Given the description of an element on the screen output the (x, y) to click on. 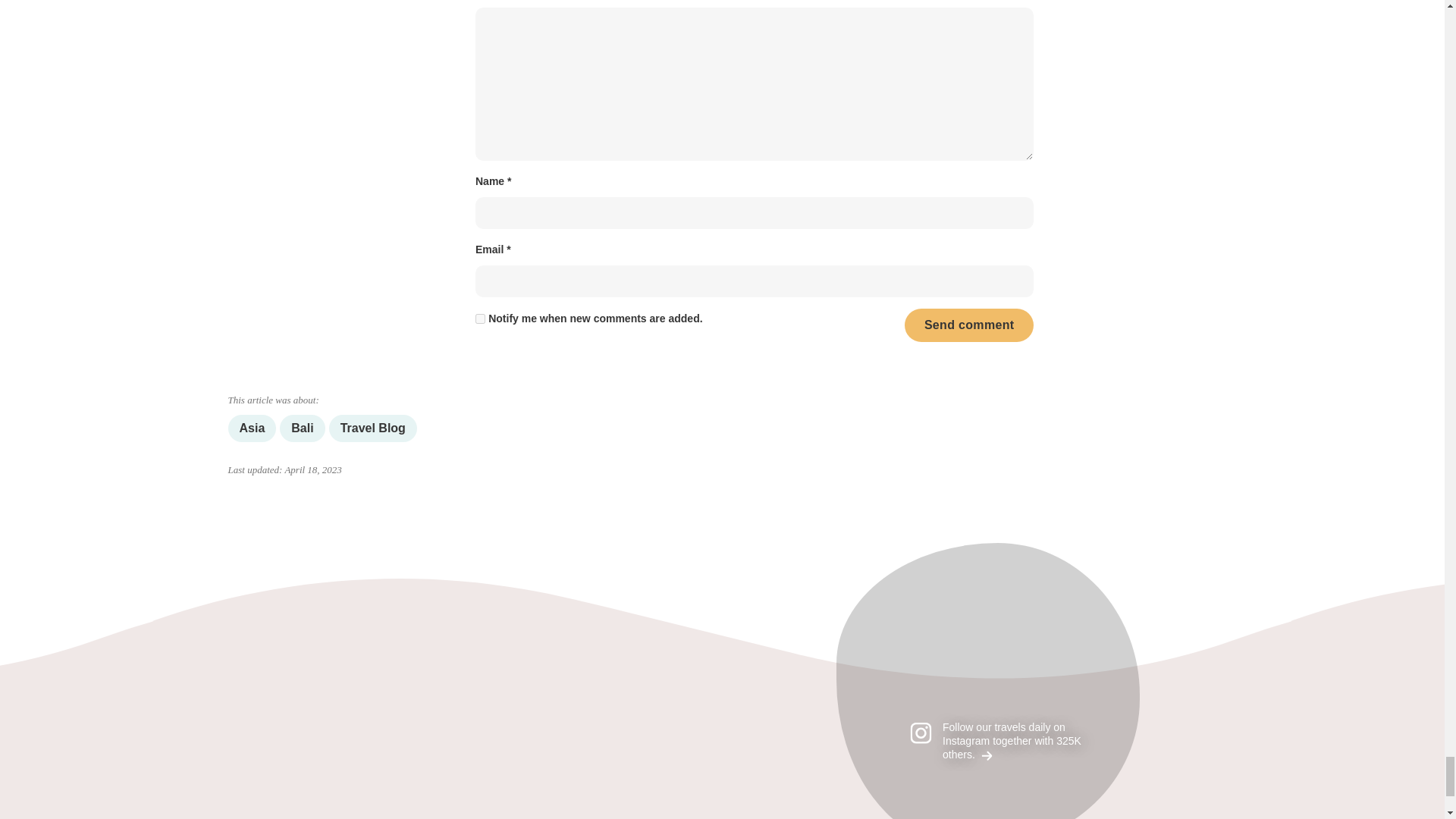
Send comment (968, 325)
